Given the description of an element on the screen output the (x, y) to click on. 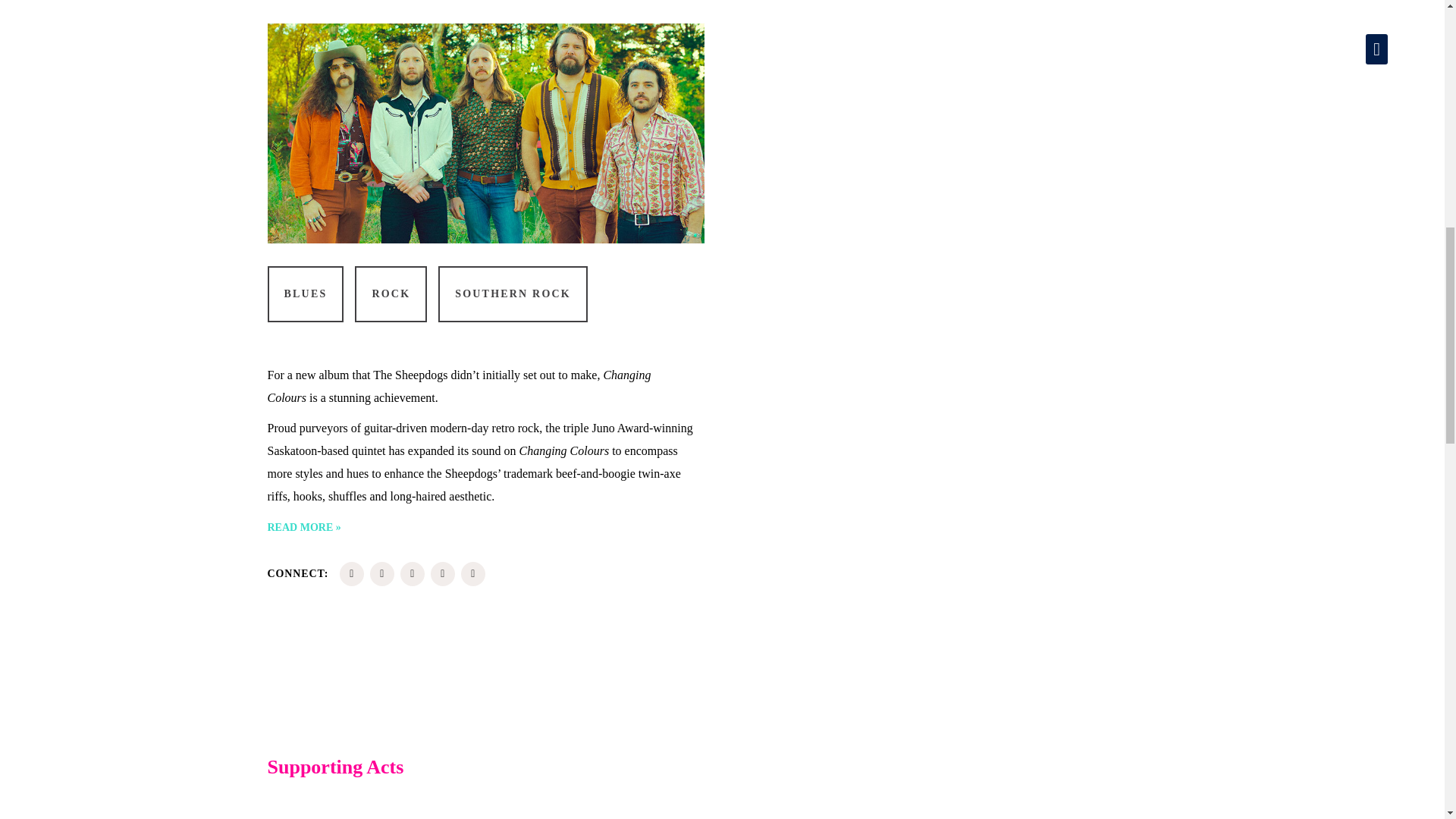
YouTube video player (957, 133)
